Given the description of an element on the screen output the (x, y) to click on. 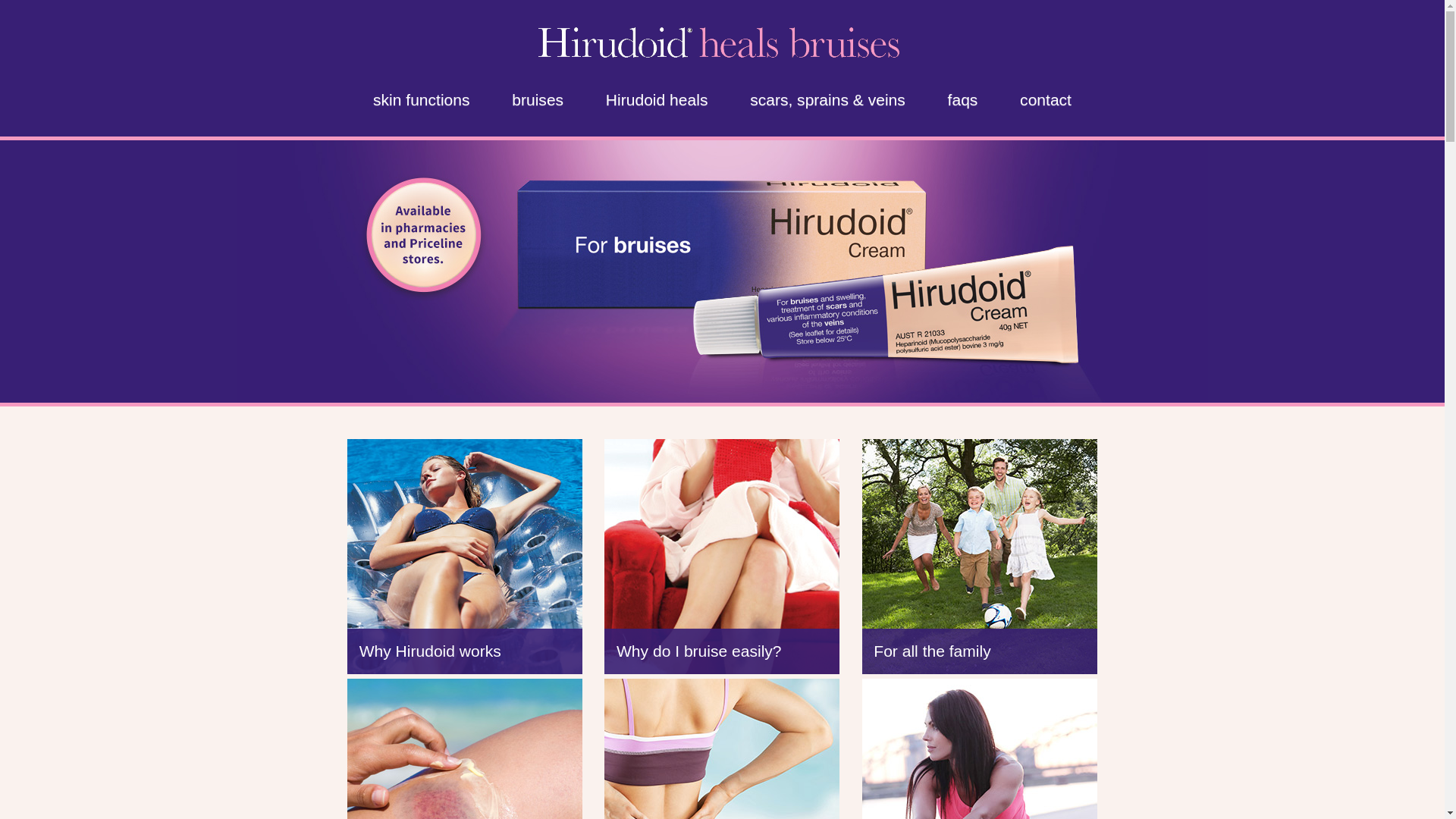
Hirudoid heals Element type: text (657, 99)
bruises Element type: text (537, 99)
Why Hirudoid works Element type: text (464, 556)
contact Element type: text (1045, 99)
For all the family Element type: text (979, 556)
skin functions Element type: text (421, 99)
scars, sprains & veins Element type: text (827, 99)
Why do I bruise easily? Element type: text (721, 556)
faqs Element type: text (963, 99)
